Given the description of an element on the screen output the (x, y) to click on. 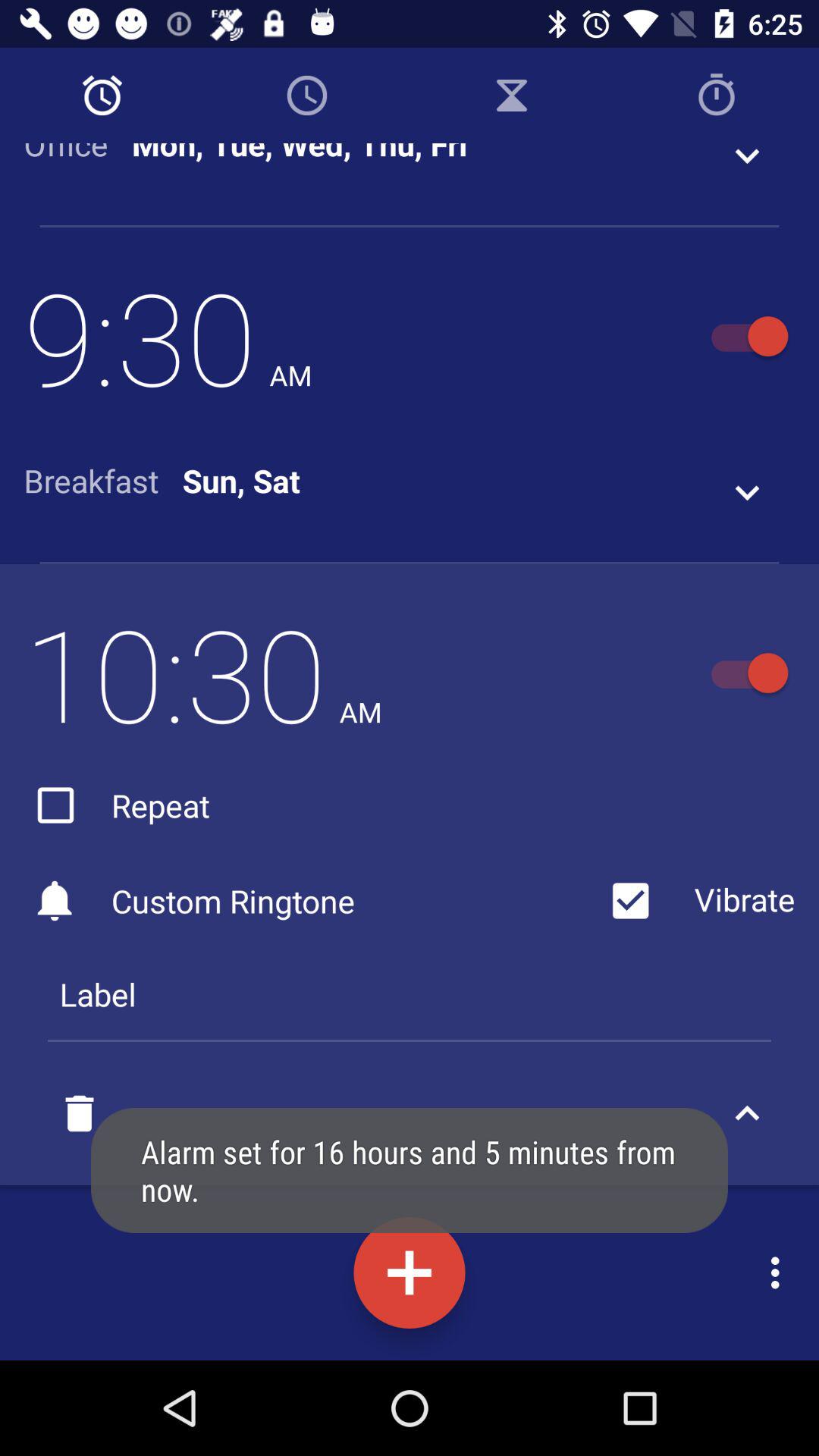
choose the icon at the bottom left corner (79, 1113)
